Given the description of an element on the screen output the (x, y) to click on. 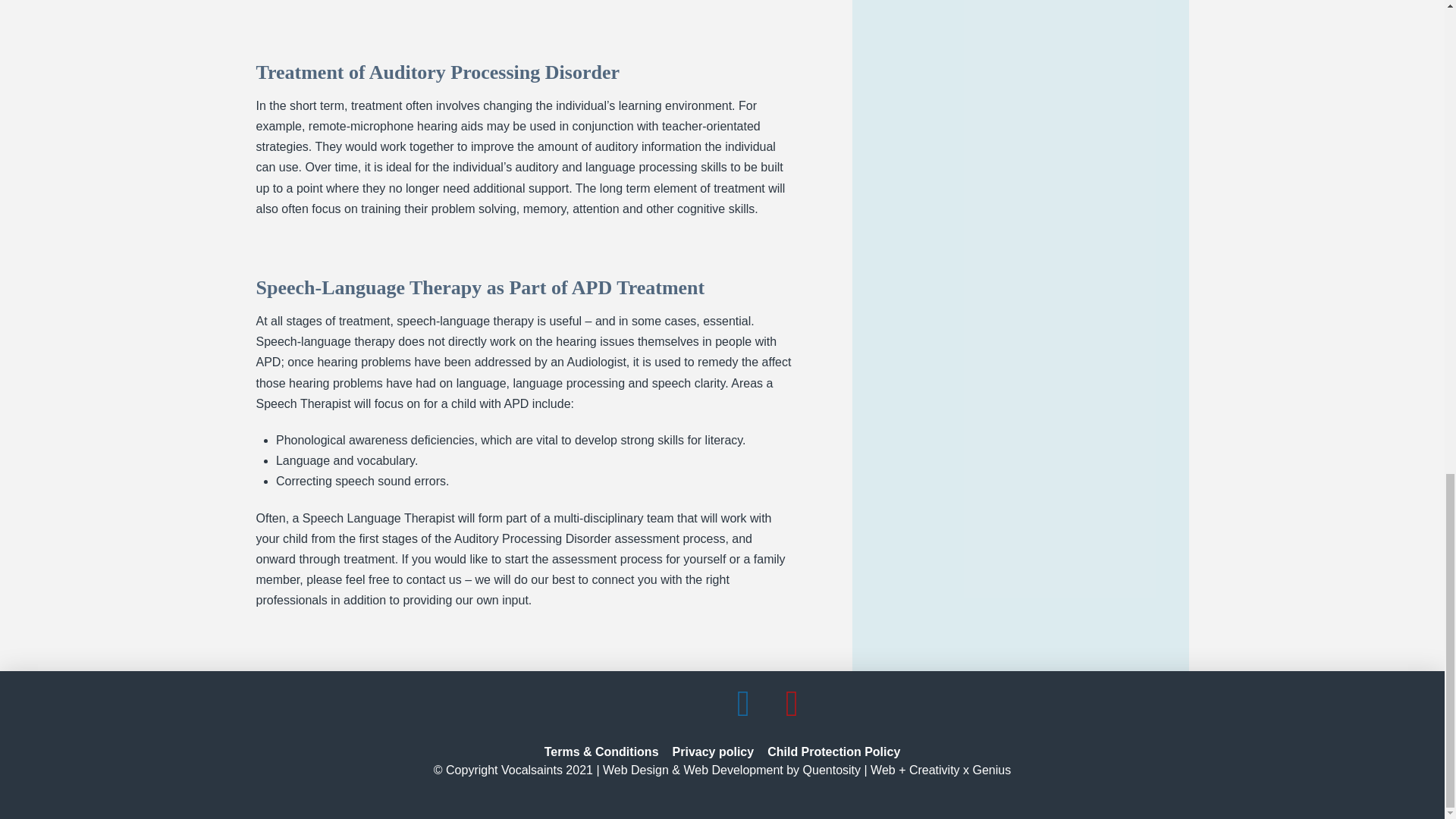
Quentosity (831, 769)
Web Development (732, 769)
Privacy policy (713, 752)
Web Design (635, 769)
Web Design (635, 769)
Quentosity (831, 769)
Child Protection Policy (833, 752)
Web Development (732, 769)
